Given the description of an element on the screen output the (x, y) to click on. 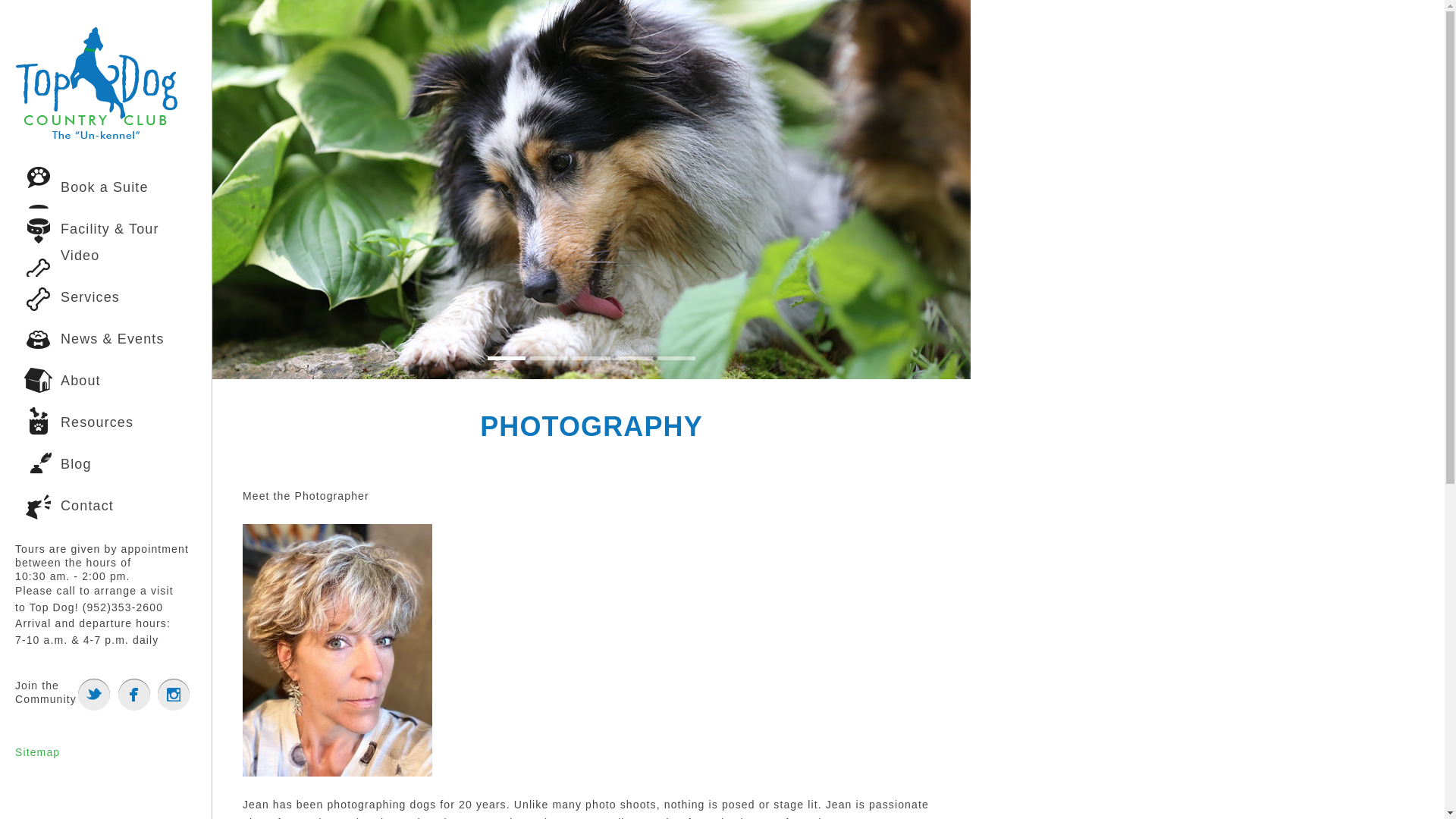
About (105, 381)
1 (506, 358)
Blog (105, 464)
Contact (105, 506)
2 (548, 358)
Services (105, 297)
Book a Suite (105, 187)
Home (97, 136)
Resources (105, 422)
3 (591, 358)
Sitemap (36, 752)
